Given the description of an element on the screen output the (x, y) to click on. 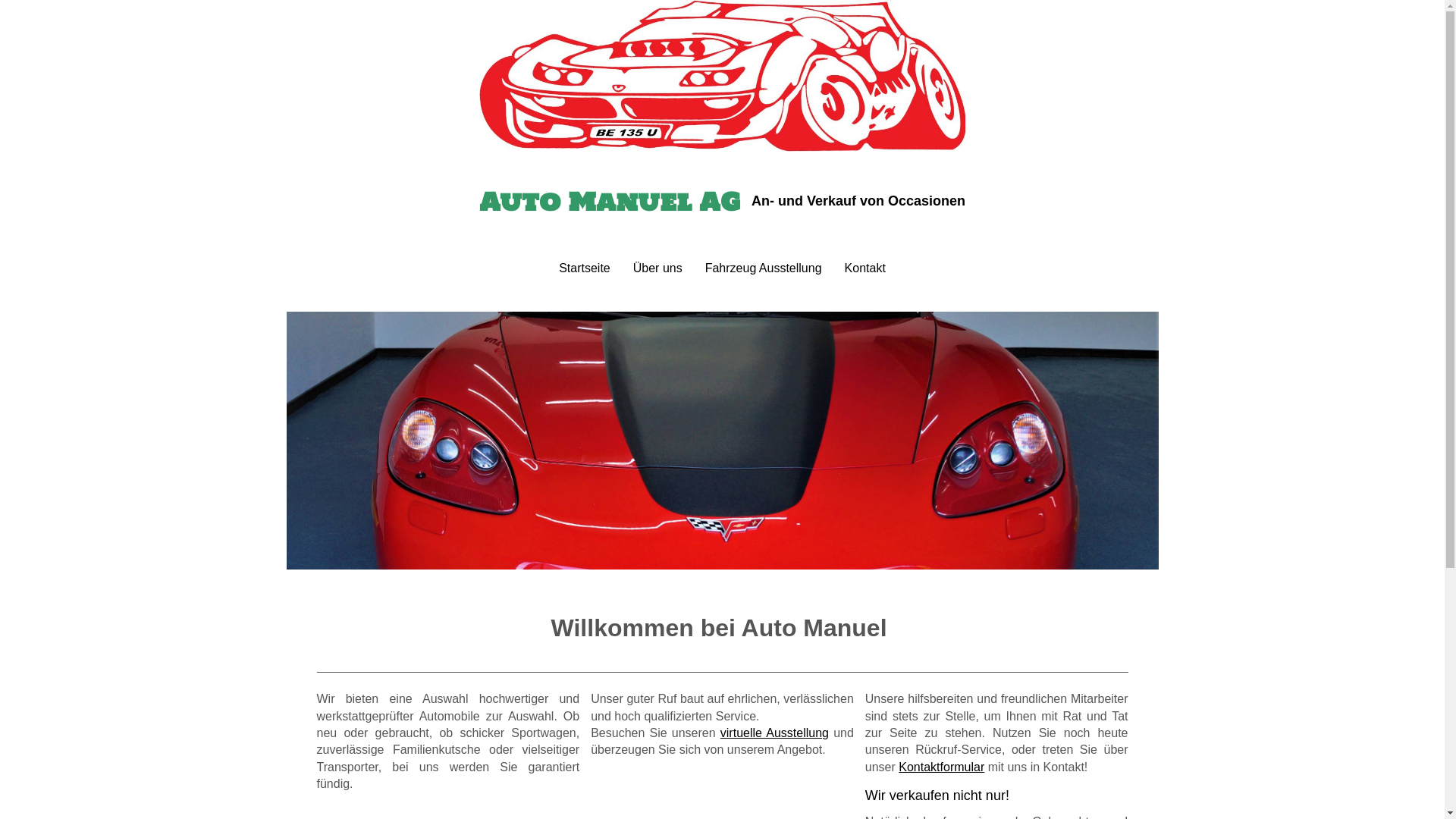
Kontakt Element type: text (865, 268)
Kontaktformular Element type: text (941, 766)
Startseite Element type: text (584, 268)
virtuelle Ausstellung Element type: text (774, 732)
Fahrzeug Ausstellung Element type: text (763, 268)
